Given the description of an element on the screen output the (x, y) to click on. 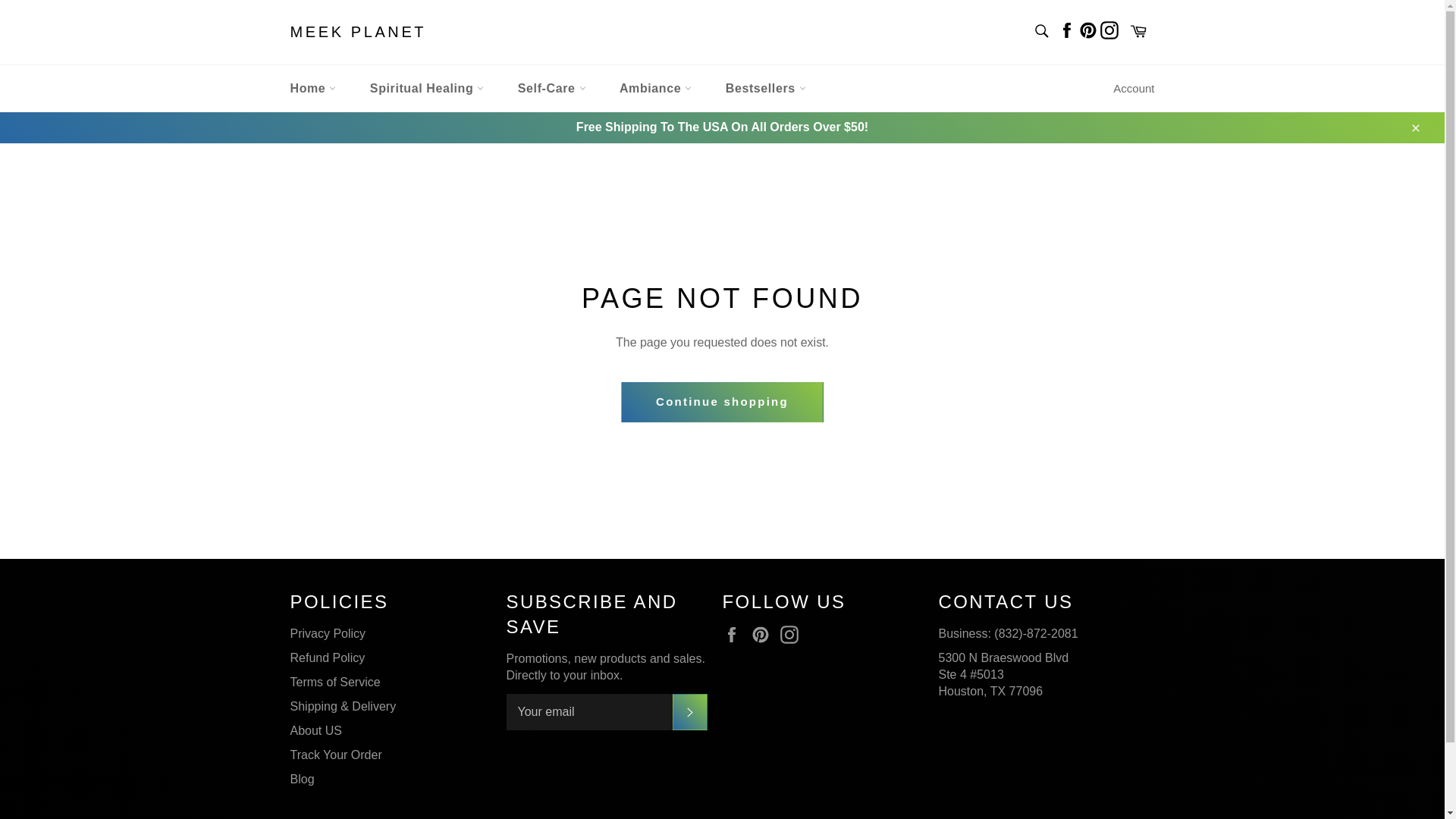
Spiritual Healing (427, 88)
Instagram (1109, 29)
Search (1040, 30)
Home (312, 88)
Meek Planet on Instagram (1109, 29)
Meek Planet on Facebook (735, 634)
Meek Planet on Pinterest (1087, 29)
Cart (1138, 32)
Pinterest (1087, 29)
Facebook (1066, 29)
